Given the description of an element on the screen output the (x, y) to click on. 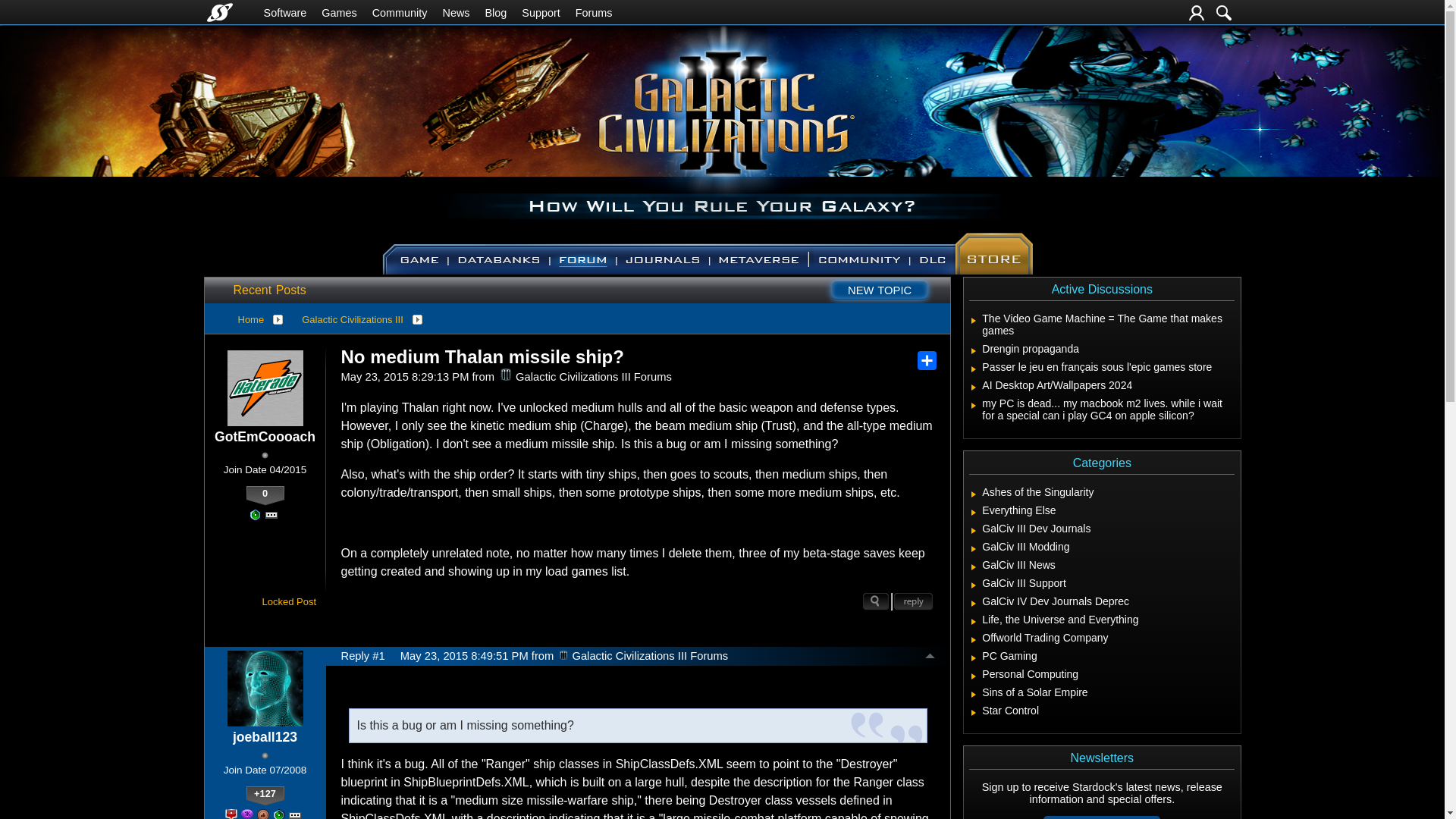
View GotEmCoooach's Karma (264, 496)
Stardock Home (218, 12)
Galactic Civilizations III Forums (505, 374)
Login or Create Account (1196, 11)
View joeball123's Karma (264, 795)
Software (285, 12)
Novice Poster - Created 5 Posts (254, 514)
Click user name to view more options. (264, 737)
View all awards (271, 514)
Search Forums (1223, 11)
